Given the description of an element on the screen output the (x, y) to click on. 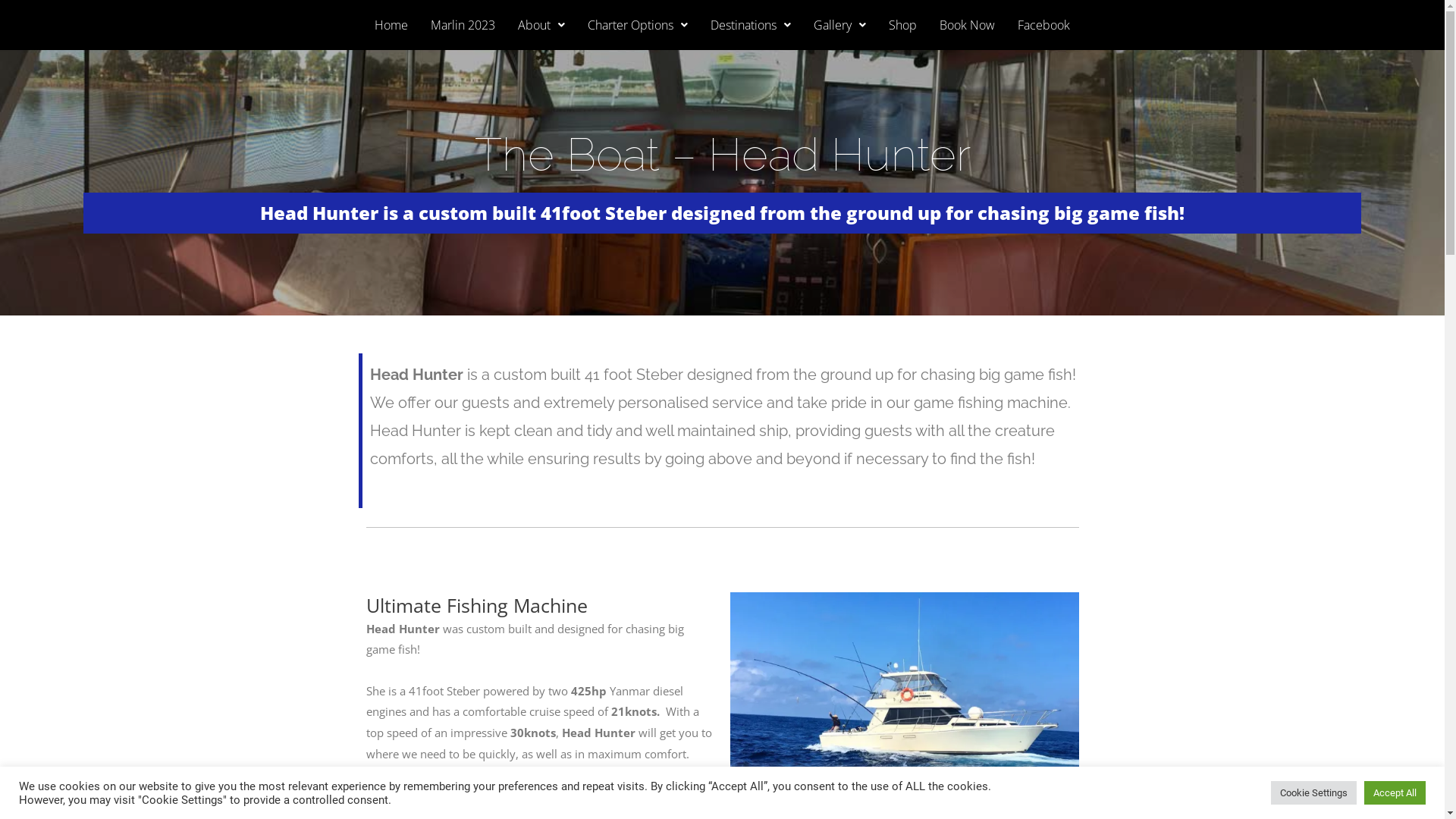
Shop Element type: text (902, 24)
Facebook Element type: text (1043, 24)
Destinations Element type: text (750, 24)
Cookie Settings Element type: text (1313, 792)
Book Now Element type: text (967, 24)
Marlin 2023 Element type: text (462, 24)
Home Element type: text (391, 24)
Accept All Element type: text (1394, 792)
Gallery Element type: text (839, 24)
About Element type: text (541, 24)
Charter Options Element type: text (637, 24)
